Given the description of an element on the screen output the (x, y) to click on. 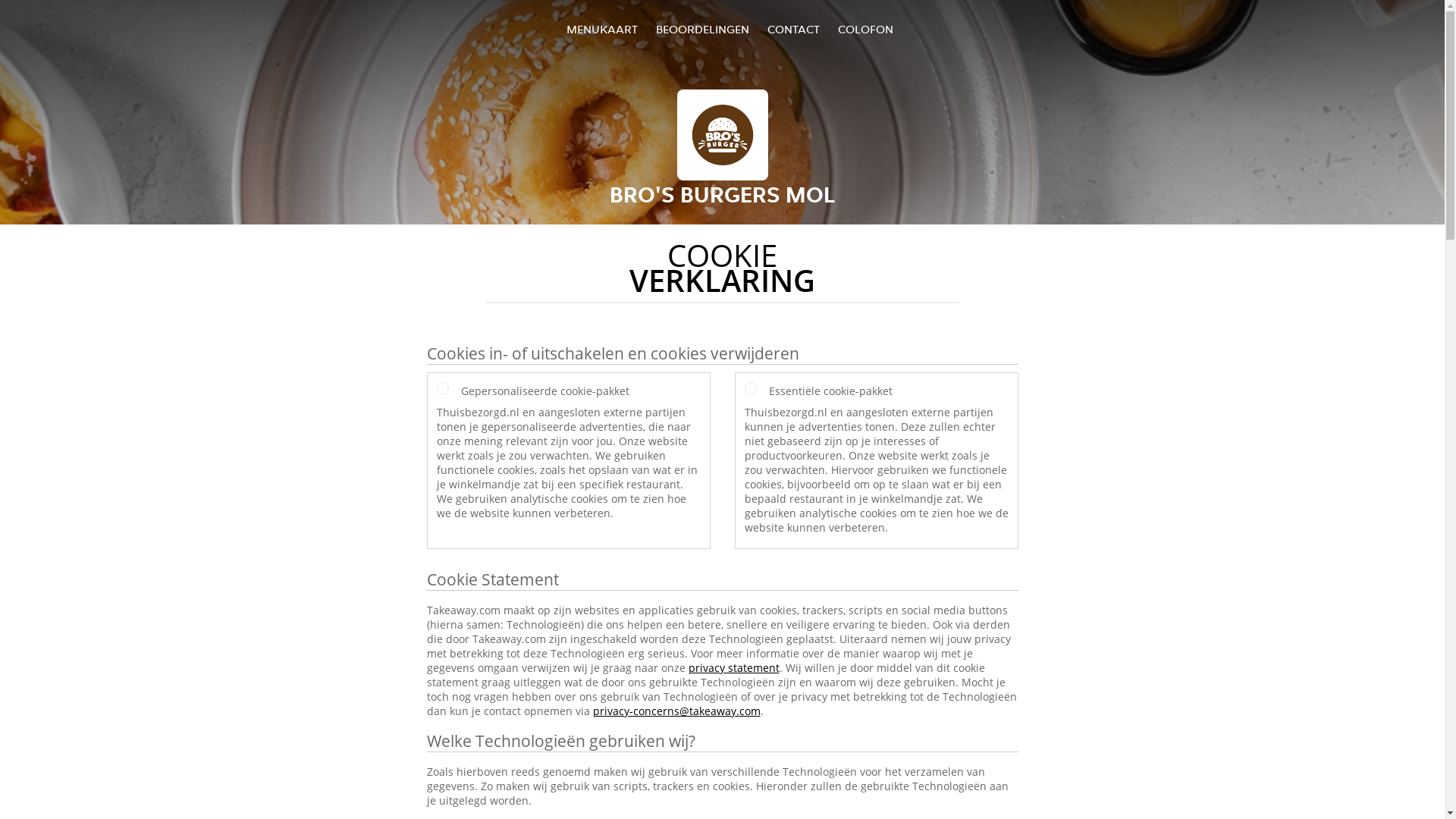
COLOFON Element type: text (865, 29)
privacy-concerns@takeaway.com Element type: text (676, 710)
CONTACT Element type: text (793, 29)
MENUKAART Element type: text (601, 29)
privacy statement Element type: text (733, 667)
BEOORDELINGEN Element type: text (702, 29)
